Given the description of an element on the screen output the (x, y) to click on. 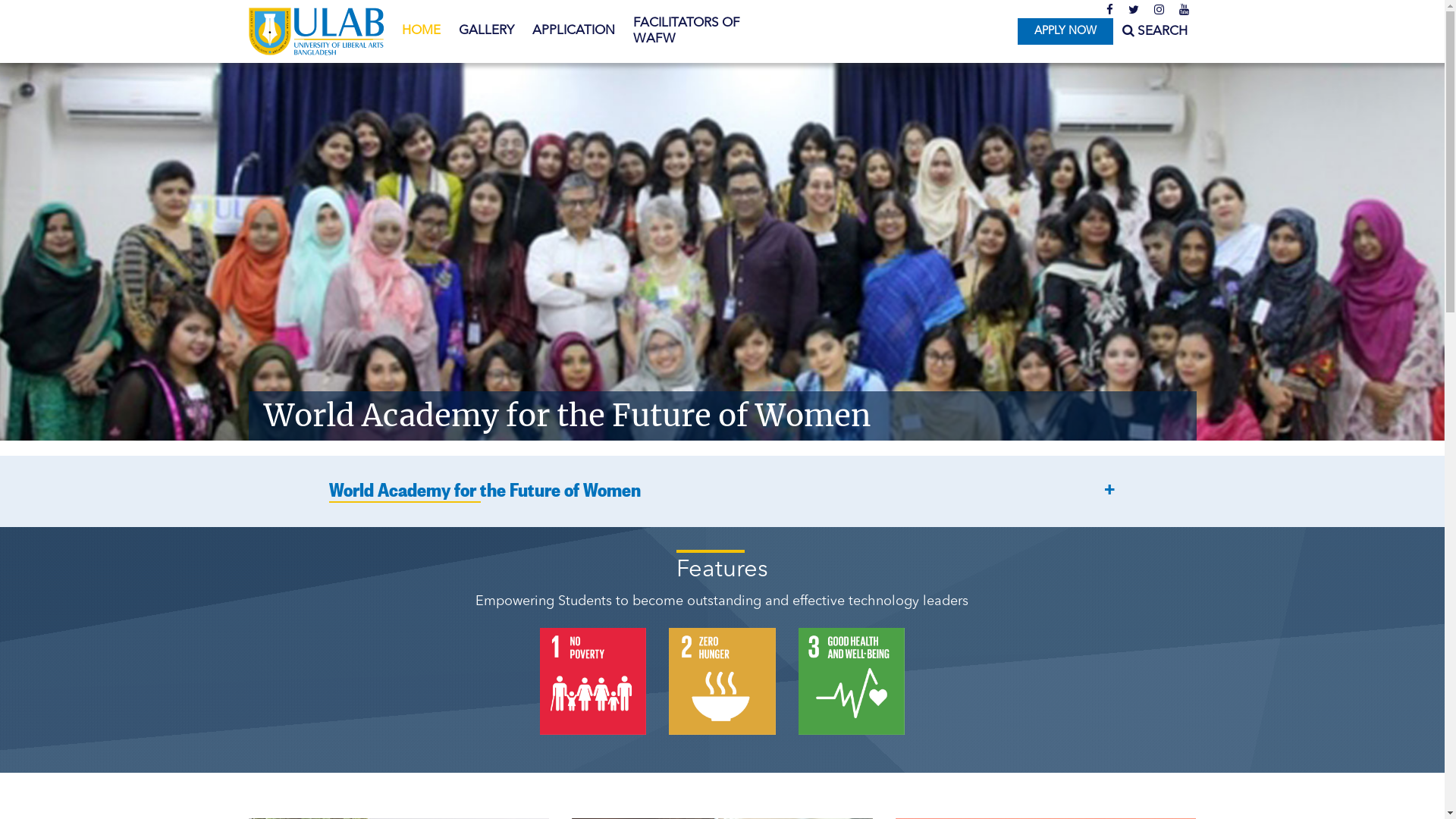
APPLICATION Element type: text (573, 30)
World Academy for the Future of Women Element type: text (722, 492)
Skip to main content Element type: text (61, 0)
GALLERY Element type: text (485, 30)
FACILITATORS OF WAFW Element type: text (695, 31)
HOME Element type: text (420, 30)
APPLY NOW Element type: text (1064, 31)
SEARCH Element type: text (1154, 31)
World Academy for the Future of Women Element type: text (567, 415)
